Given the description of an element on the screen output the (x, y) to click on. 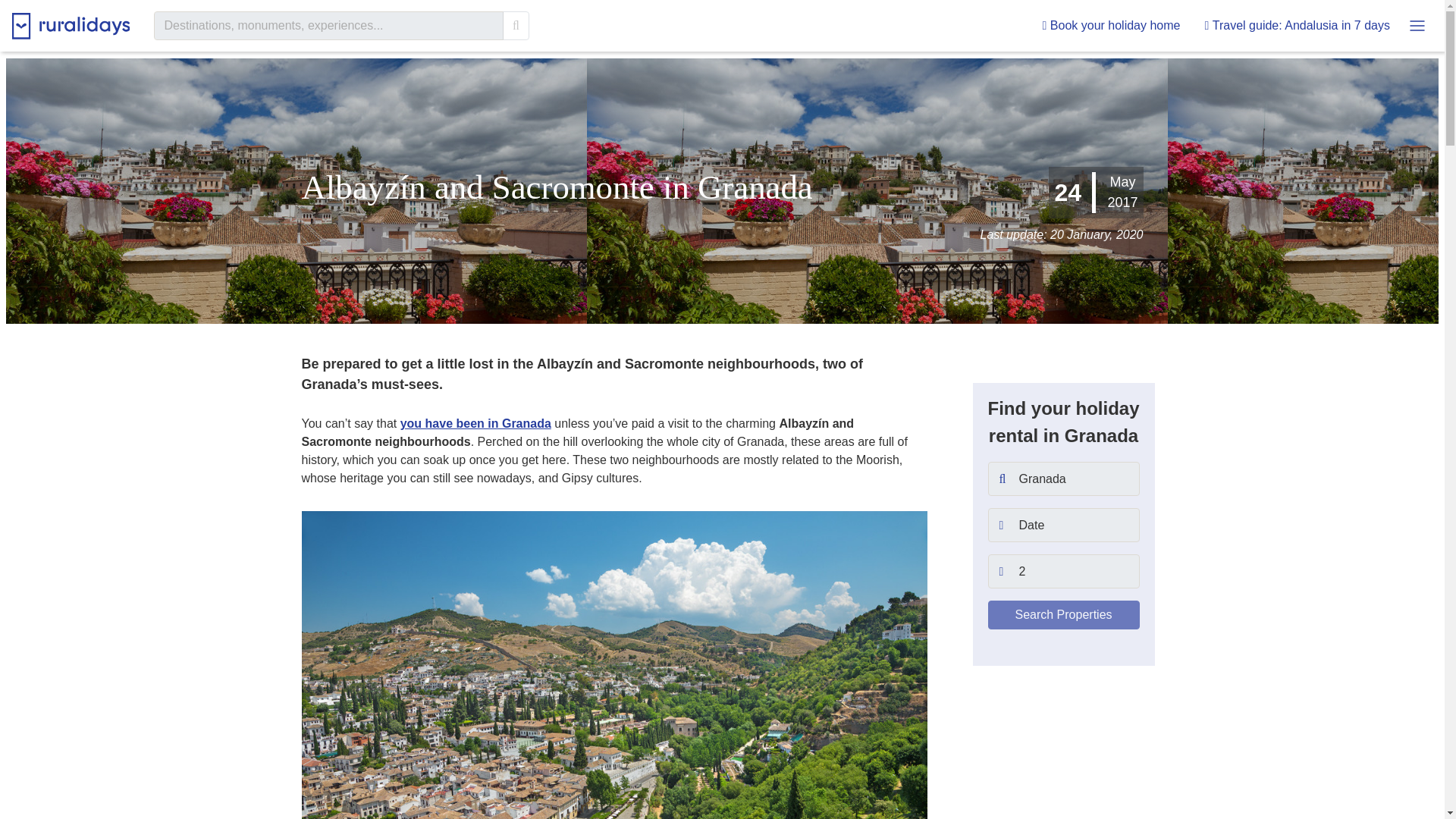
Book your holiday home (1111, 25)
2 (1062, 571)
Granada (1062, 478)
you have been in Granada (475, 422)
Travel guide: Andalusia in 7 days (1297, 25)
